Given the description of an element on the screen output the (x, y) to click on. 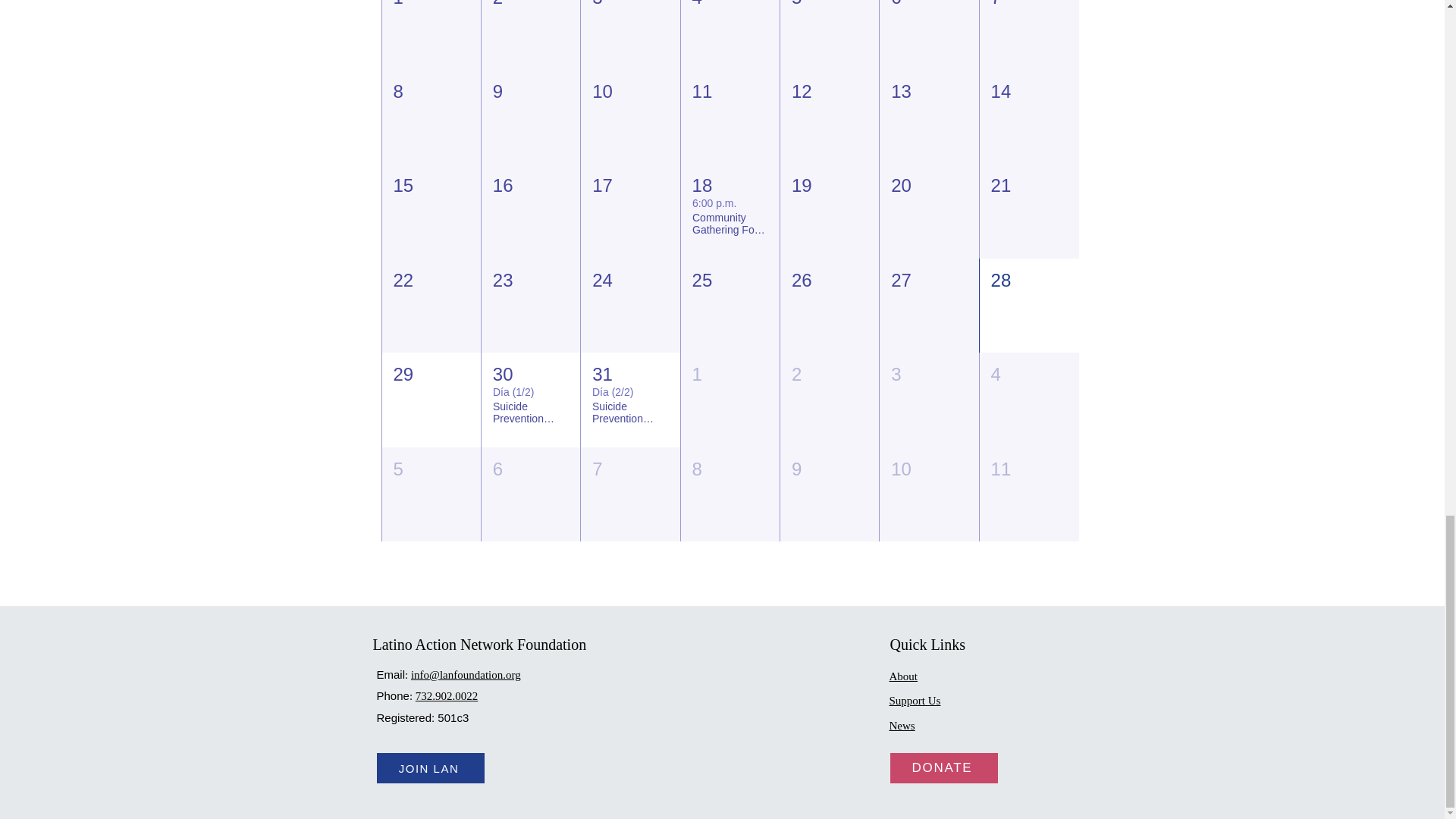
DONATE (943, 767)
JOIN LAN (429, 767)
732.902.0022 (446, 695)
News (901, 725)
About (902, 675)
Support Us (914, 699)
